Given the description of an element on the screen output the (x, y) to click on. 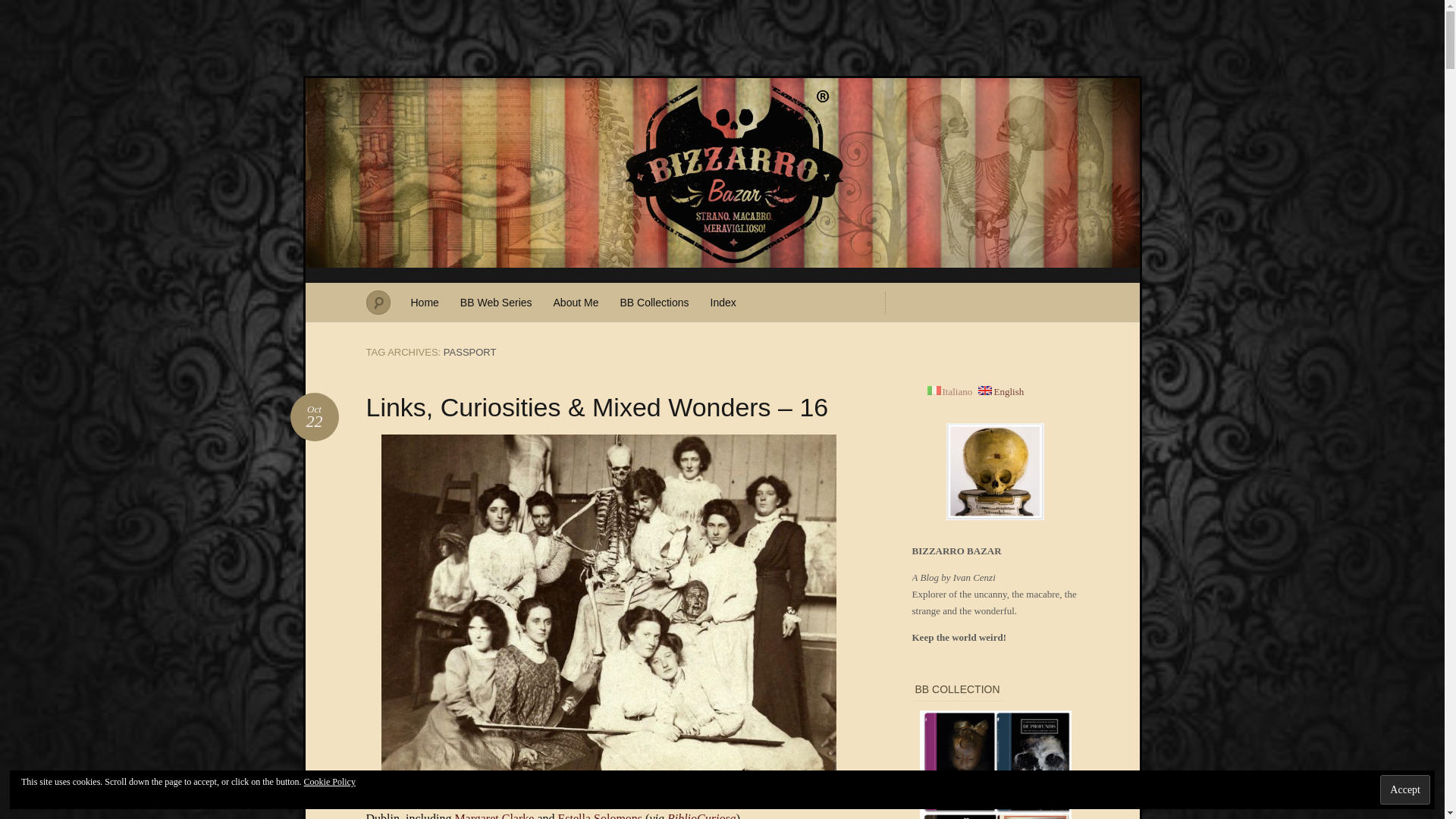
October 22 2018 (313, 417)
About Me (576, 301)
BB Collections (653, 301)
BB Web Series (496, 301)
Bizzarro Bazar (313, 417)
Index (701, 815)
Accept (723, 301)
Bizzarro Bazar (1404, 789)
Estella Solomons (21, 7)
Home (600, 815)
Margaret Clarke (424, 301)
